Given the description of an element on the screen output the (x, y) to click on. 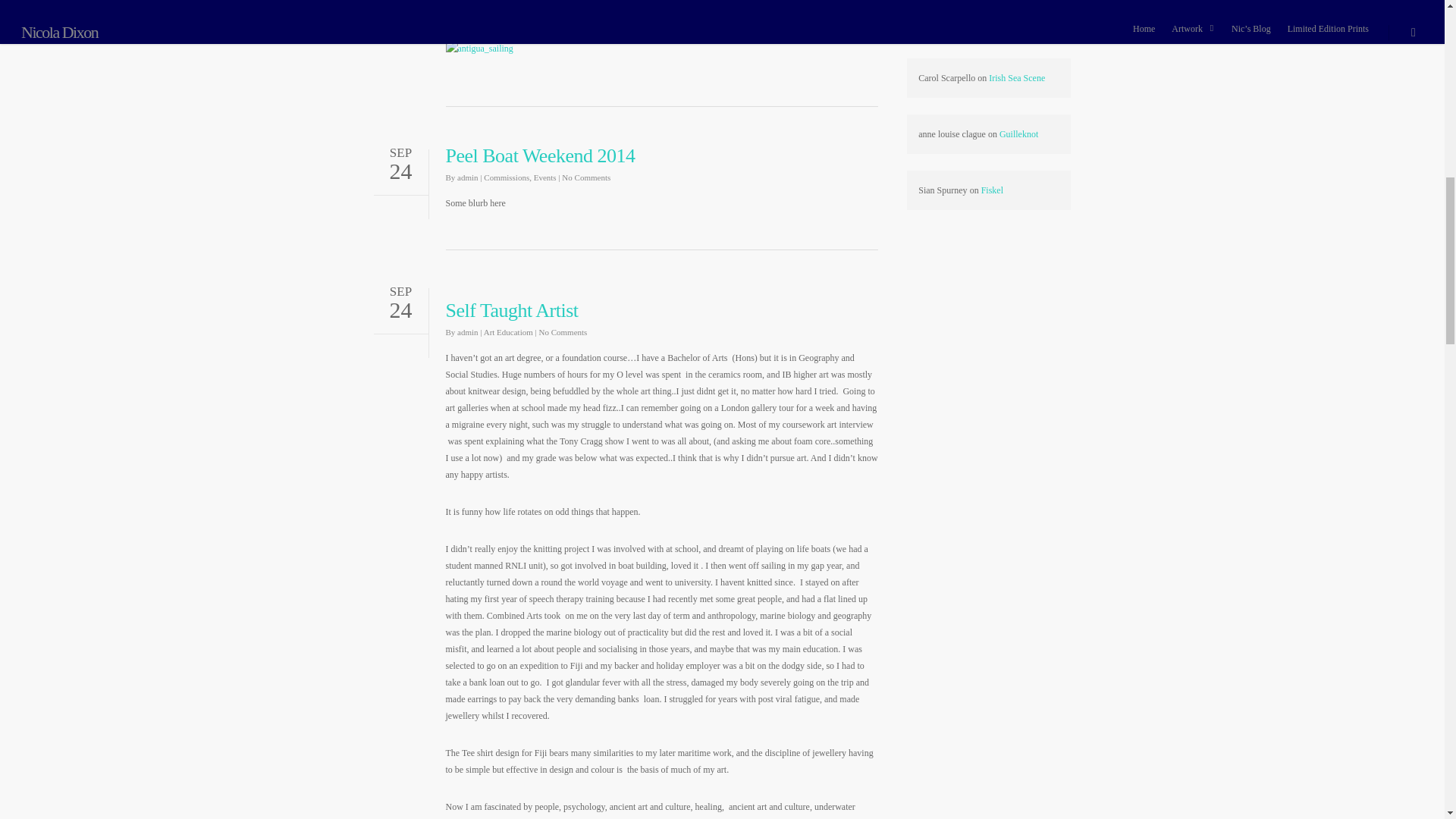
No Comments (586, 176)
Posts by admin (468, 176)
Peel Boat Weekend 2014 (539, 155)
Events (545, 176)
test (458, 6)
admin (468, 22)
Commissions (506, 176)
Self Taught Artist (511, 310)
No Comments (536, 22)
Events (494, 22)
